Given the description of an element on the screen output the (x, y) to click on. 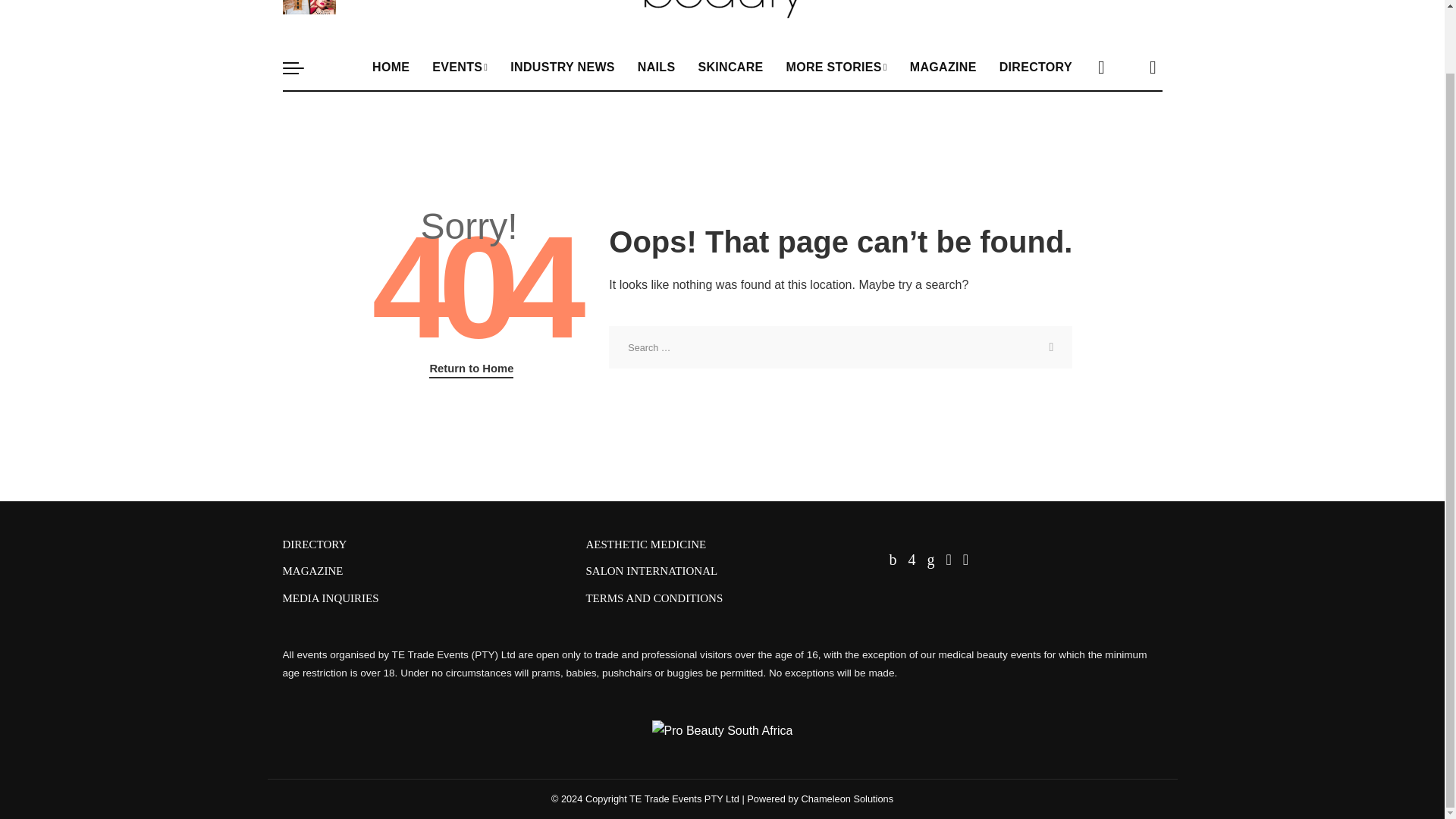
LinkedIn (1114, 3)
Search (1050, 346)
Instagram (1101, 3)
Pro Beauty South Africa (721, 14)
Bookmarks (1152, 3)
Search (1050, 346)
Facebook (1088, 3)
